Given the description of an element on the screen output the (x, y) to click on. 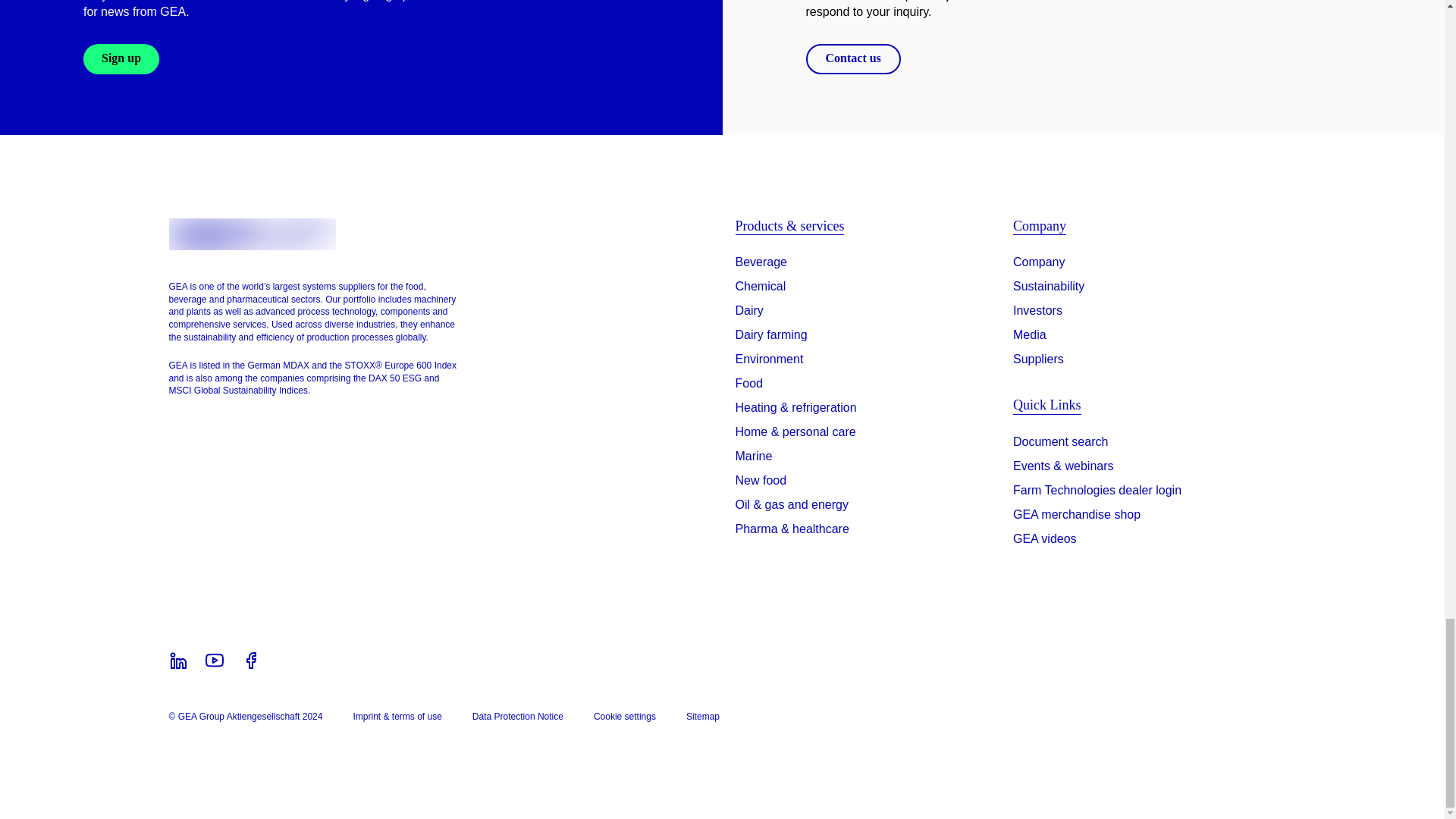
Company (1038, 262)
Media (1029, 334)
Investors (1037, 311)
Sustainability (1048, 286)
Suppliers (1038, 359)
